Given the description of an element on the screen output the (x, y) to click on. 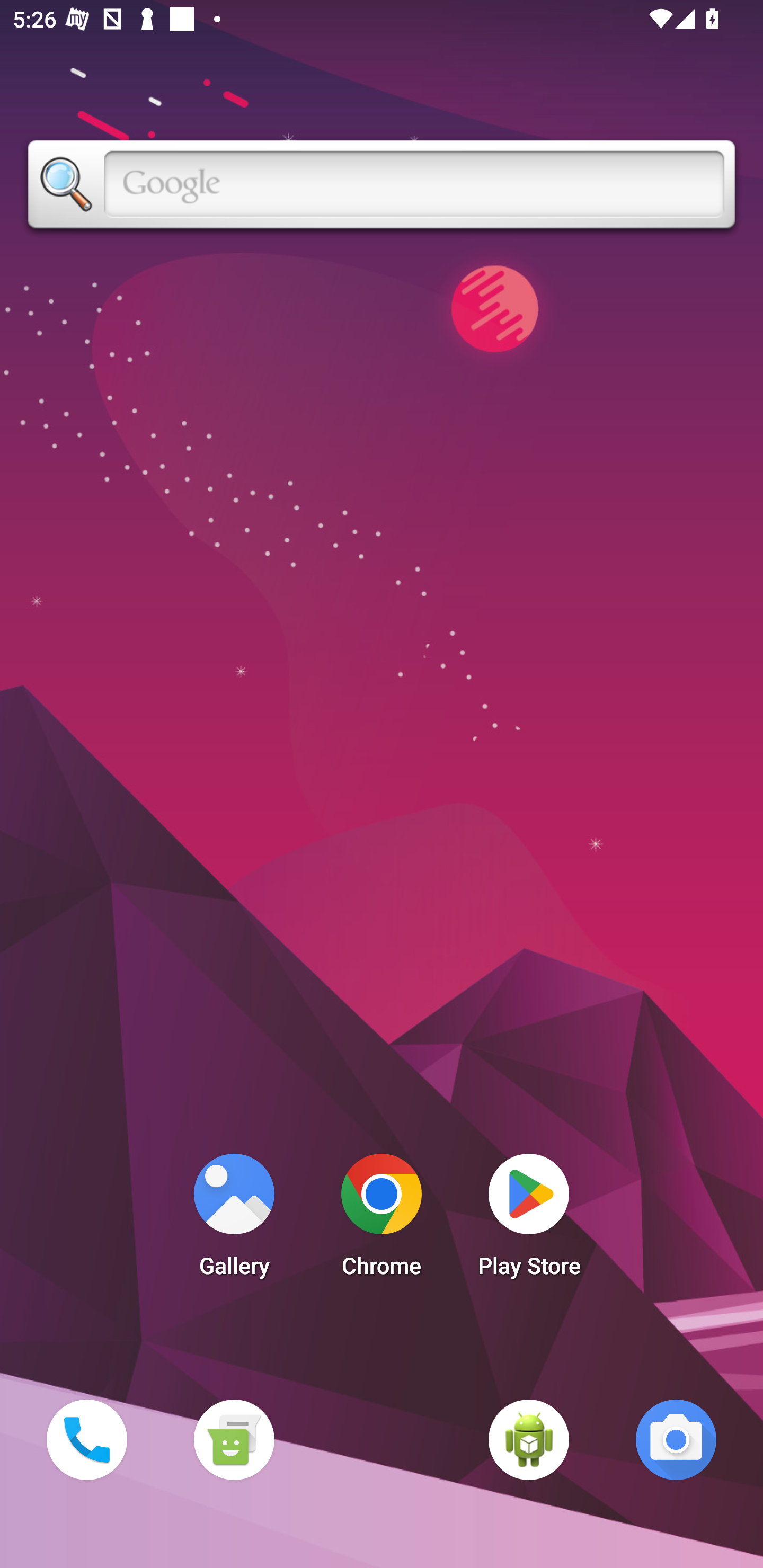
Gallery (233, 1220)
Chrome (381, 1220)
Play Store (528, 1220)
Phone (86, 1439)
Messaging (233, 1439)
WebView Browser Tester (528, 1439)
Camera (676, 1439)
